Given the description of an element on the screen output the (x, y) to click on. 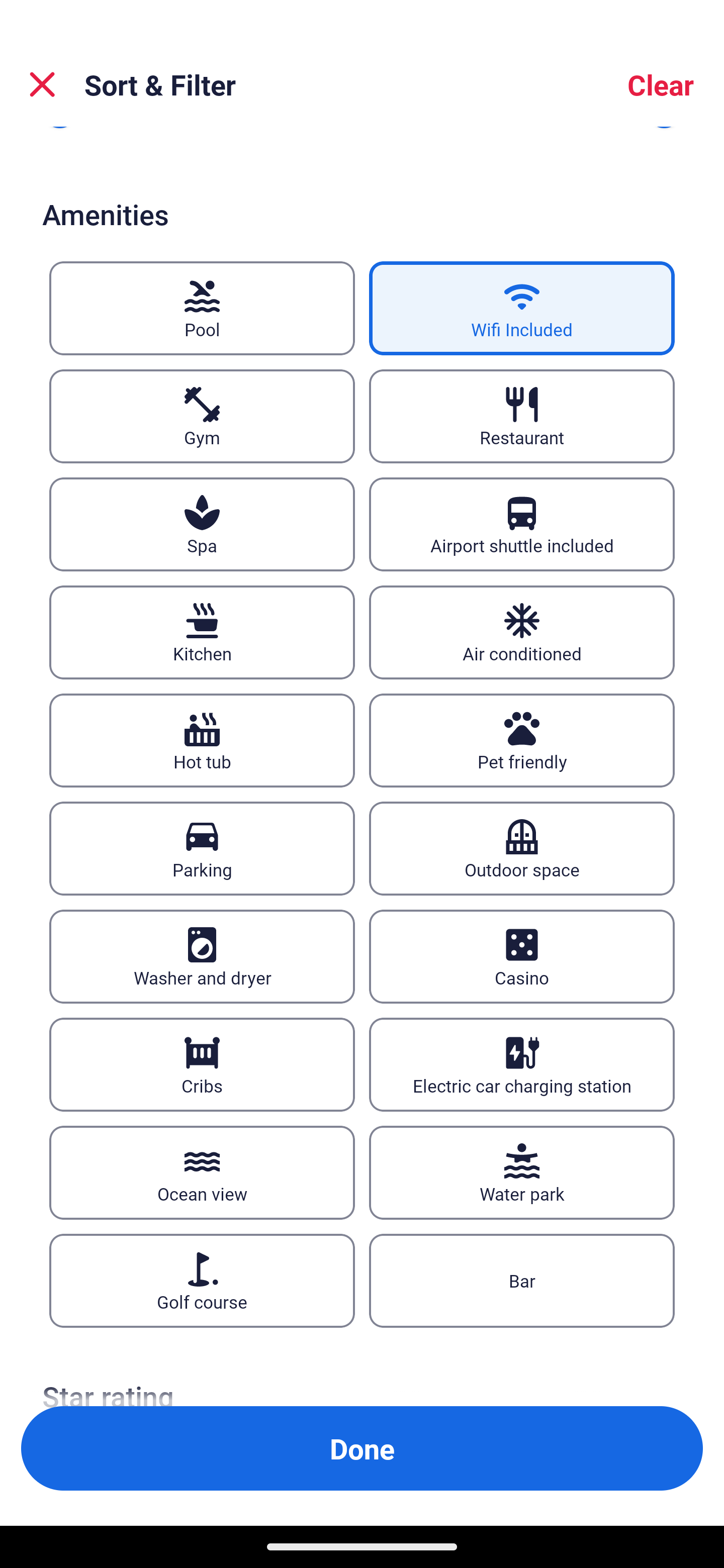
Close Sort and Filter (42, 84)
Clear (660, 84)
Pool (201, 308)
Wifi Included (521, 308)
Gym (201, 417)
Restaurant (521, 417)
Spa (201, 523)
Airport shuttle included (521, 523)
Kitchen (201, 631)
Air conditioned (521, 631)
Hot tub (201, 740)
Pet friendly (521, 740)
Parking (201, 848)
Outdoor space (521, 848)
Washer and dryer (201, 956)
Casino (521, 956)
Cribs (201, 1064)
Electric car charging station (521, 1064)
Ocean view (201, 1172)
Water park (521, 1172)
Golf course (201, 1281)
Bar (521, 1281)
Apply and close Sort and Filter Done (361, 1448)
